Given the description of an element on the screen output the (x, y) to click on. 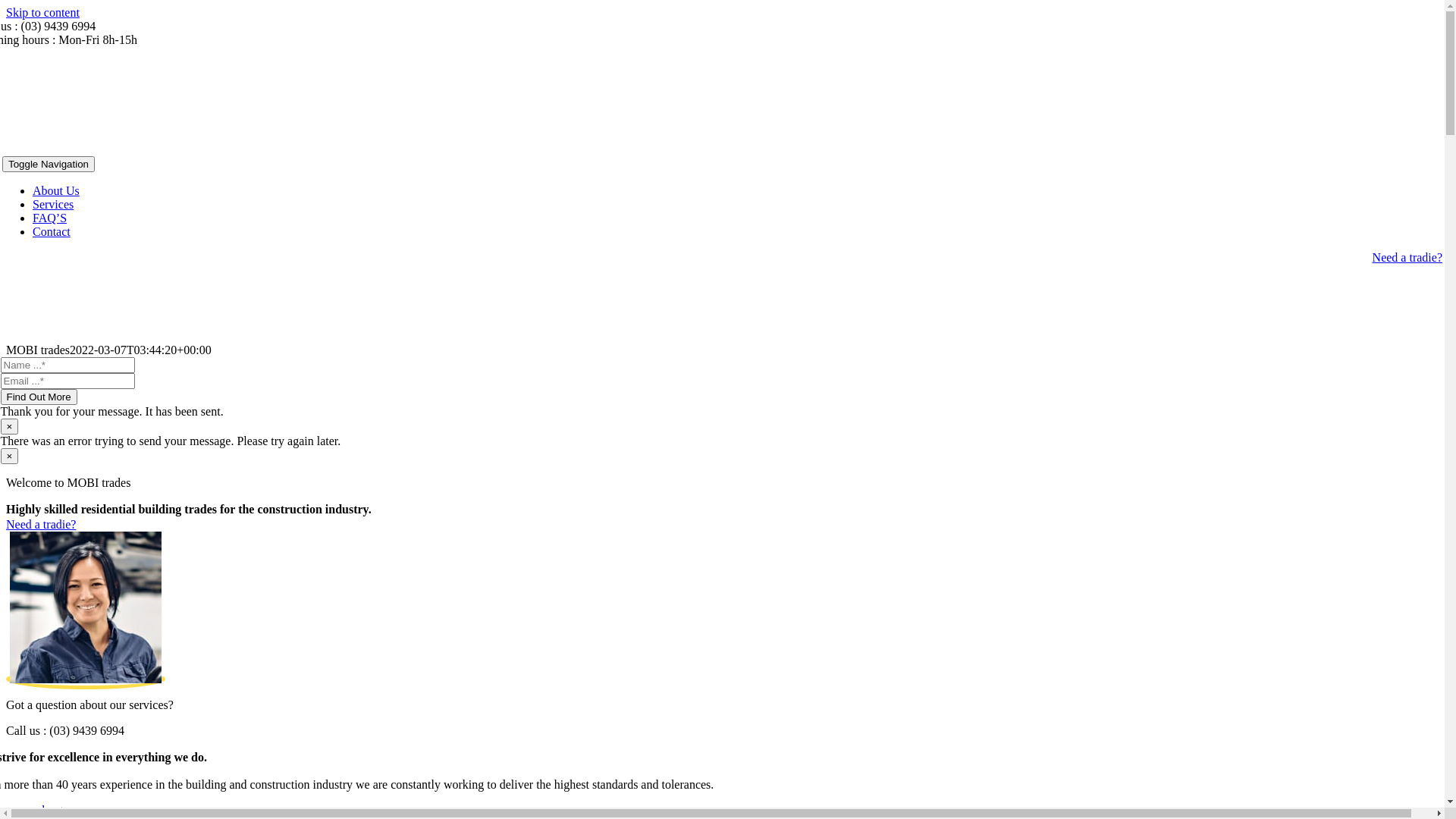
Toggle Navigation Element type: text (48, 164)
Services Element type: text (52, 203)
Need a tradie? Element type: text (40, 523)
Skip to content Element type: text (42, 12)
About Us Element type: text (55, 190)
Need a tradie? Element type: text (1407, 257)
Contact Element type: text (51, 231)
Find Out More Element type: text (38, 396)
Woman smiling Element type: hover (85, 607)
